Given the description of an element on the screen output the (x, y) to click on. 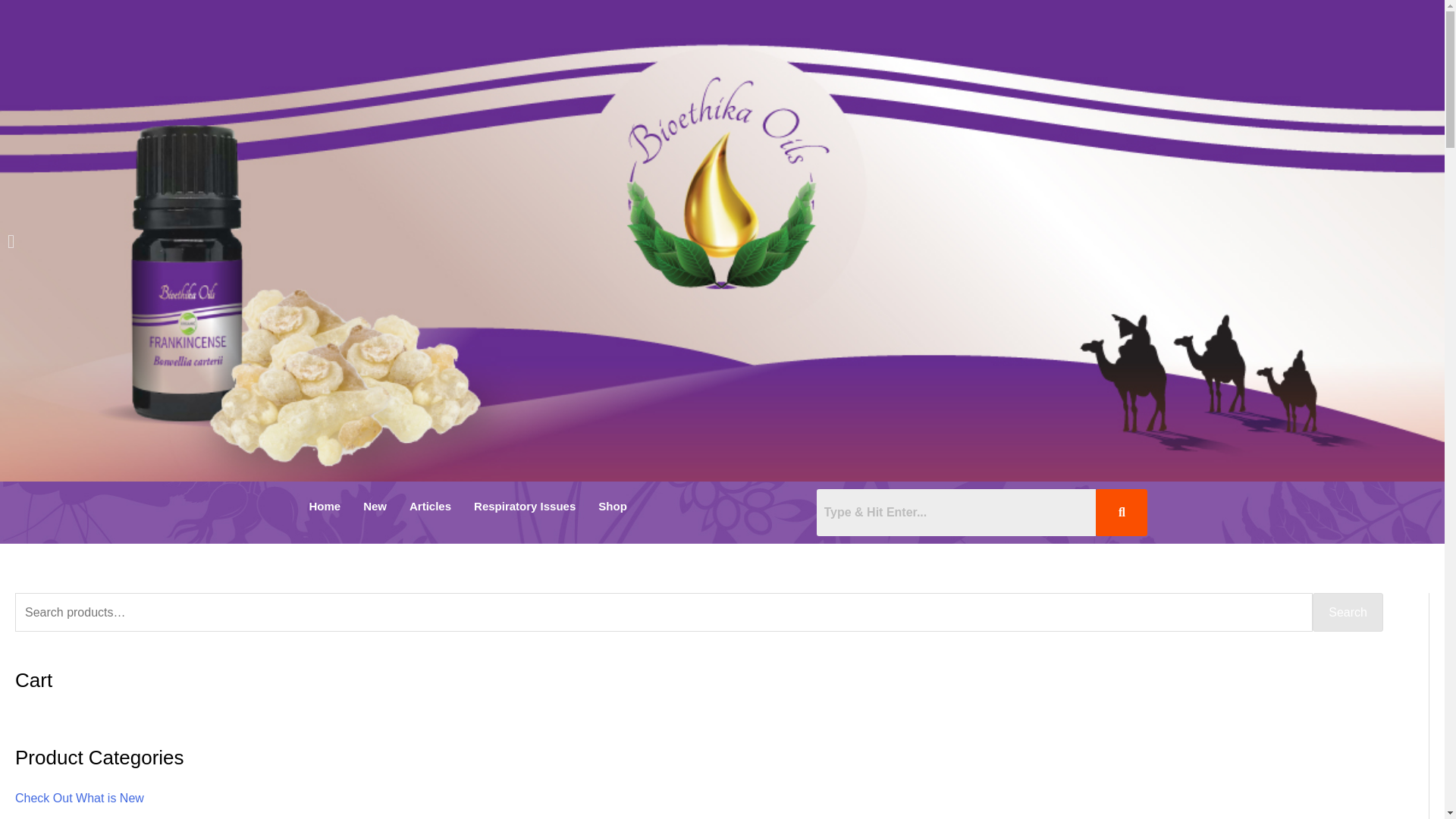
Shop (616, 505)
Check Out What is New (79, 797)
New (374, 505)
Search (955, 512)
Home (324, 505)
Respiratory Issues (524, 505)
Search (1348, 612)
Articles (430, 505)
